Given the description of an element on the screen output the (x, y) to click on. 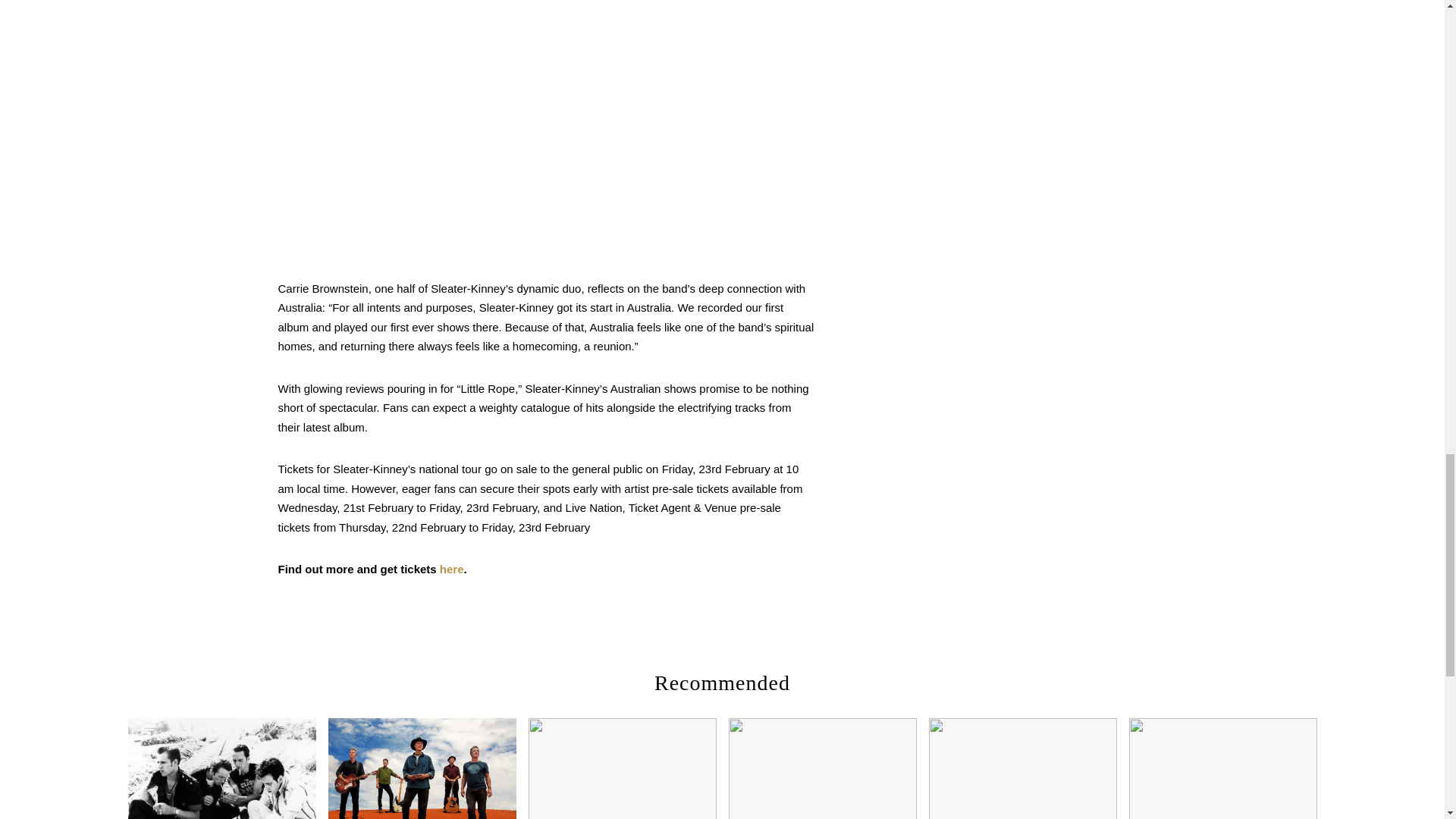
here (451, 568)
